Given the description of an element on the screen output the (x, y) to click on. 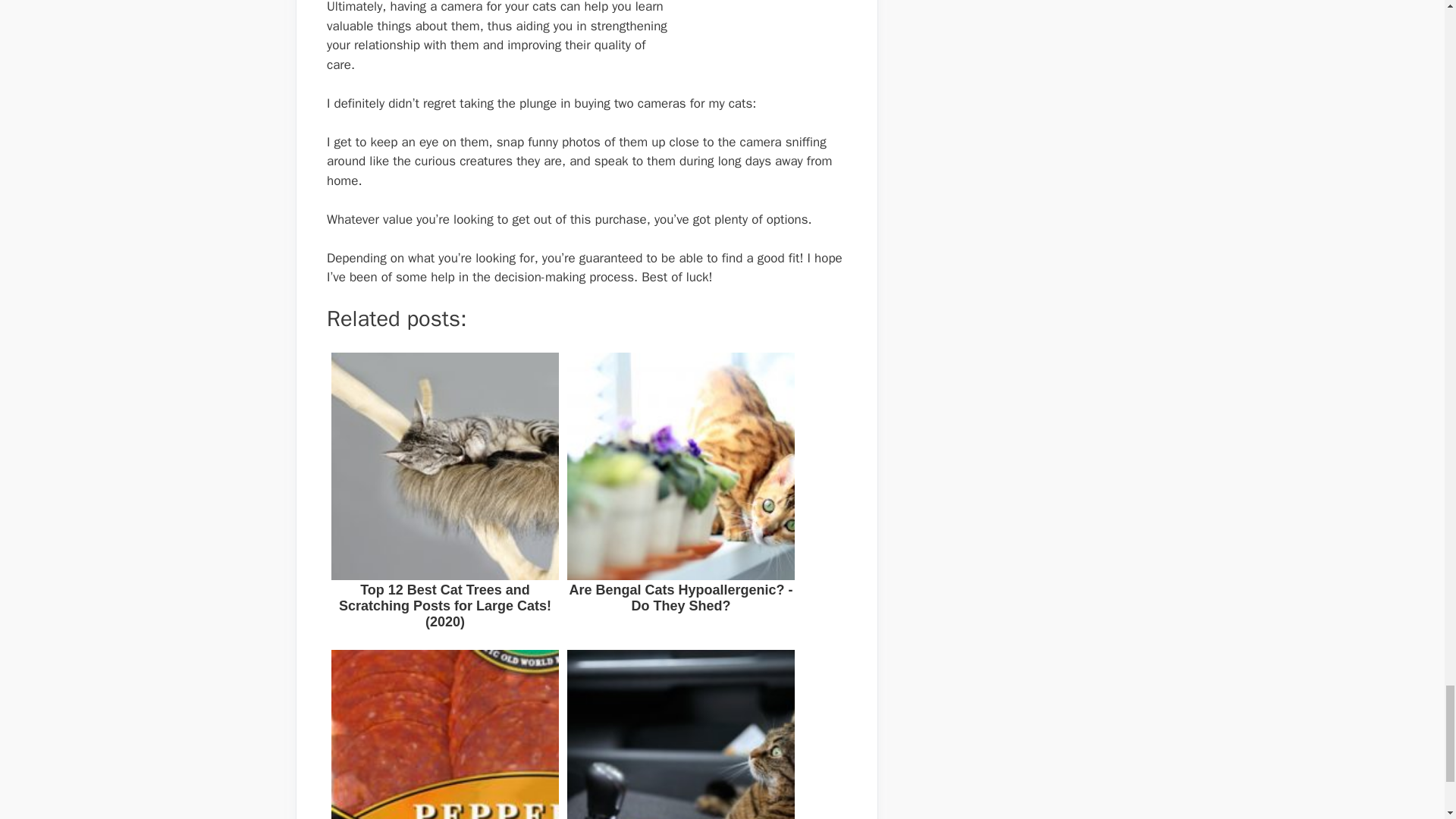
Can you feed Pepperoni to cats? (444, 732)
Are Bengal Cats Hypoallergenic? - Do They Shed? (680, 494)
